Given the description of an element on the screen output the (x, y) to click on. 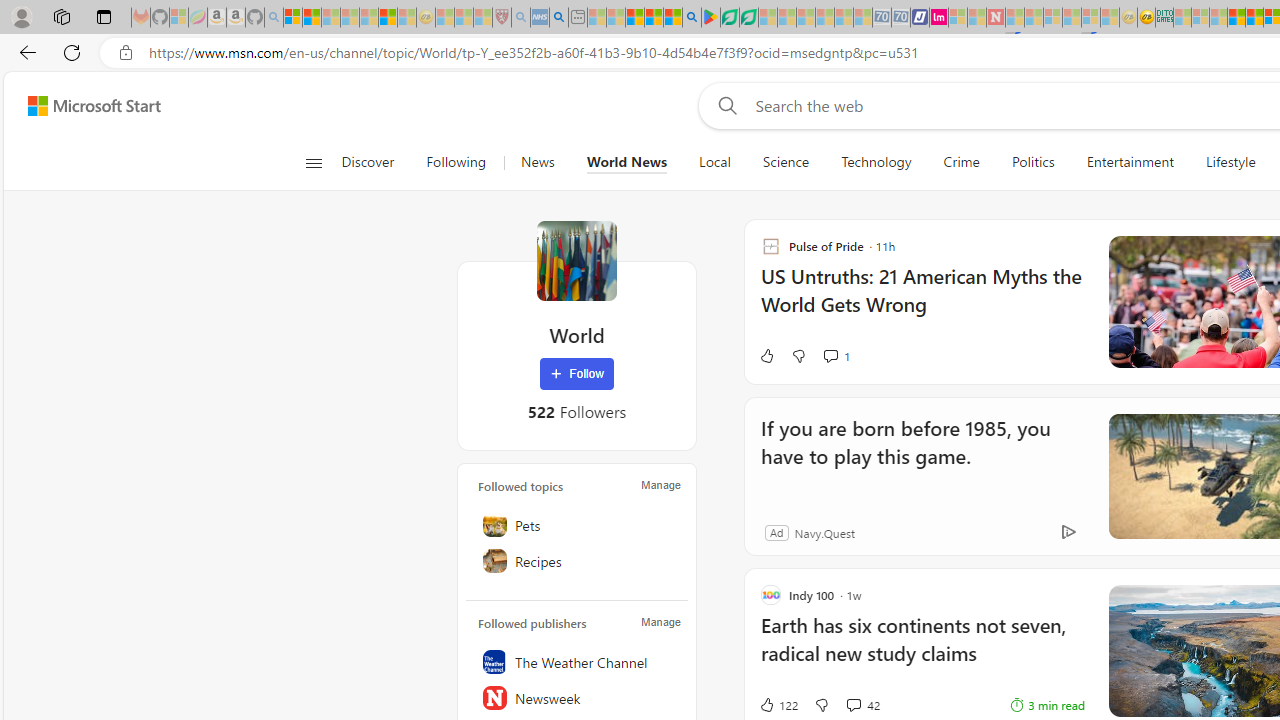
Science (785, 162)
Navy.Quest (824, 532)
View comments 1 Comment (835, 355)
Bluey: Let's Play! - Apps on Google Play (710, 17)
Kinda Frugal - MSN (1254, 17)
World (576, 260)
World News (626, 162)
Crime (961, 162)
New Report Confirms 2023 Was Record Hot | Watch - Sleeping (368, 17)
Pets (577, 525)
